Given the description of an element on the screen output the (x, y) to click on. 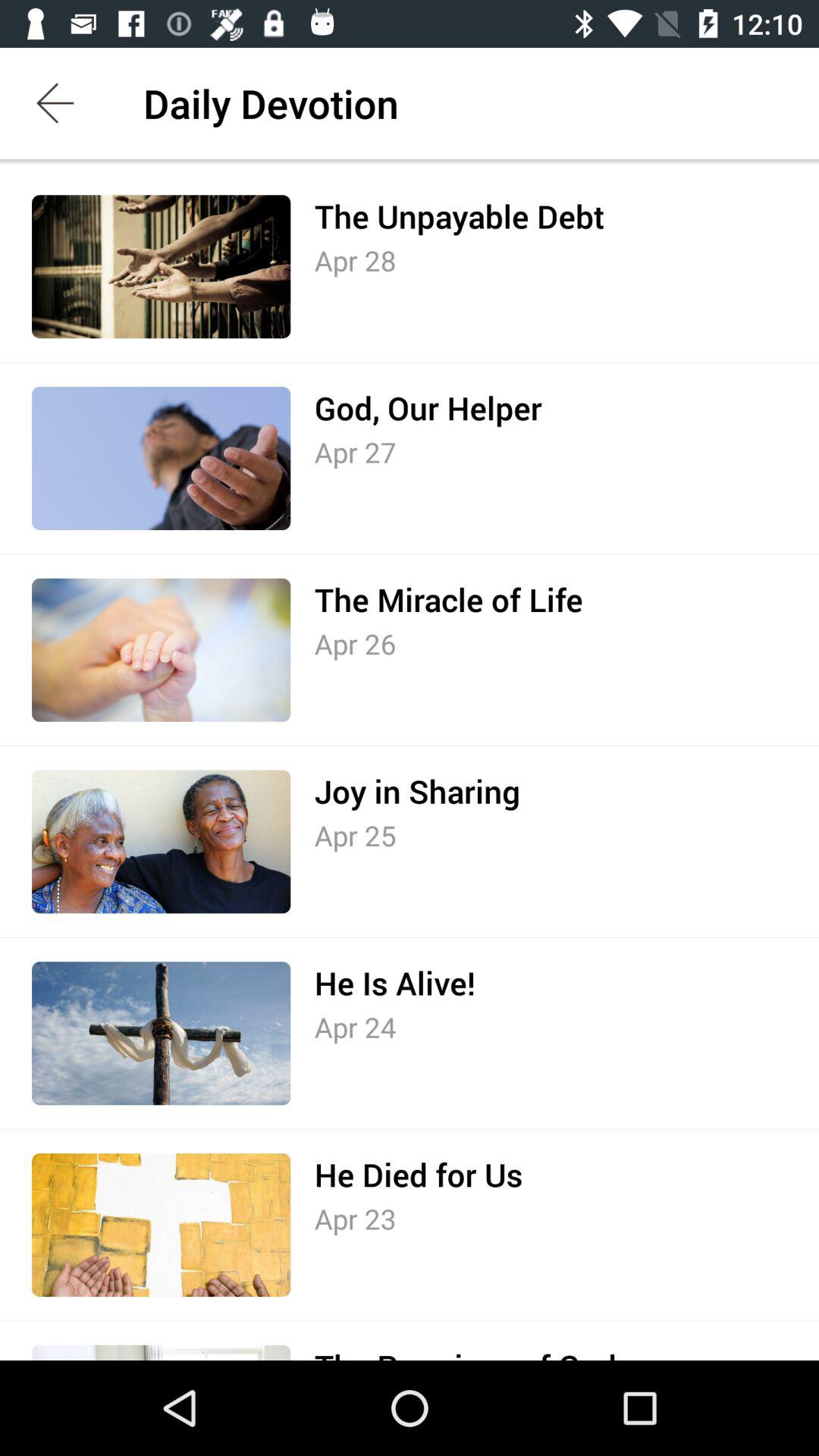
open the item above the apr 25 item (417, 791)
